Given the description of an element on the screen output the (x, y) to click on. 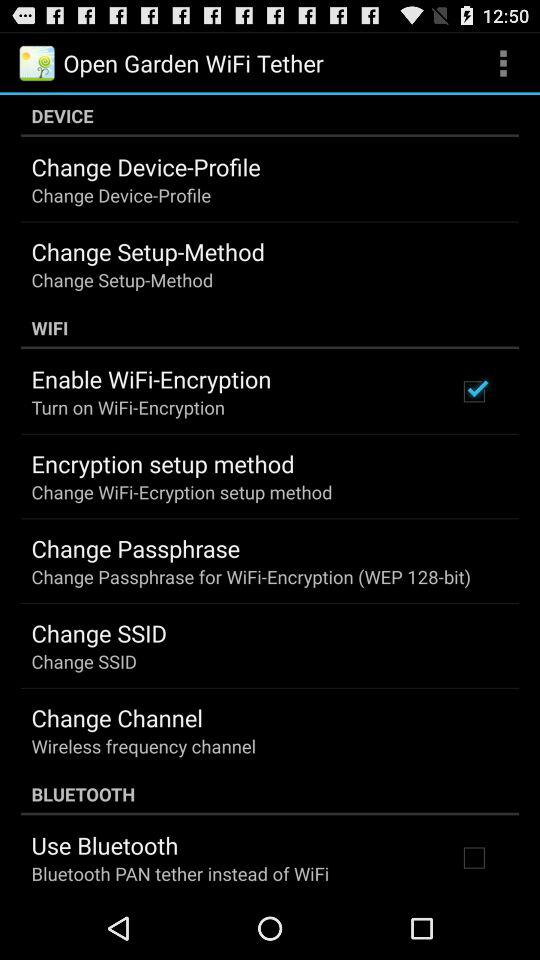
turn on turn on wifi app (127, 406)
